Given the description of an element on the screen output the (x, y) to click on. 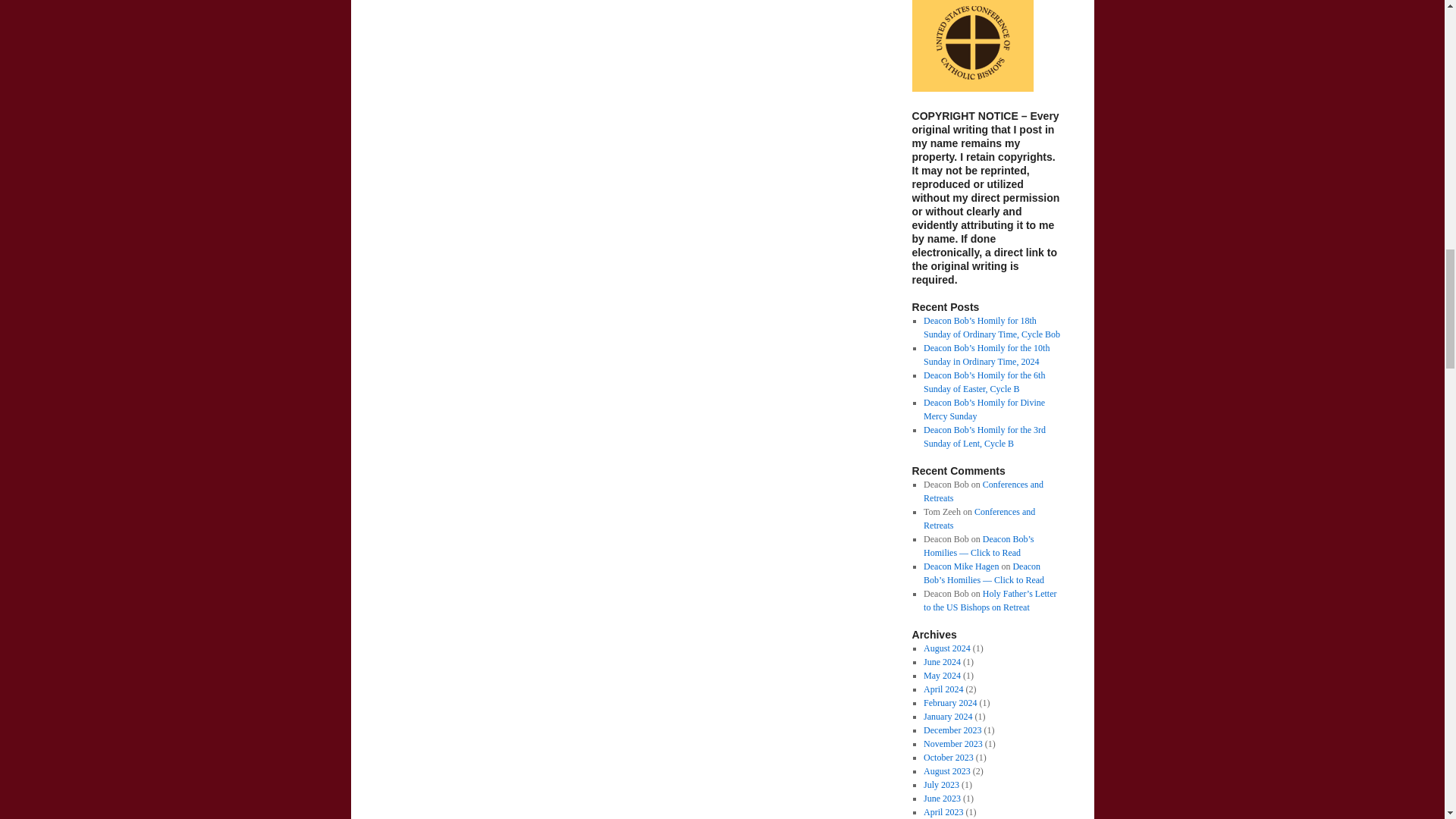
December 2023 (952, 729)
October 2023 (948, 757)
April 2023 (942, 811)
July 2023 (941, 784)
Deacon Mike Hagen (960, 566)
February 2024 (949, 702)
June 2024 (941, 661)
August 2024 (947, 647)
November 2023 (952, 743)
January 2024 (947, 716)
